Given the description of an element on the screen output the (x, y) to click on. 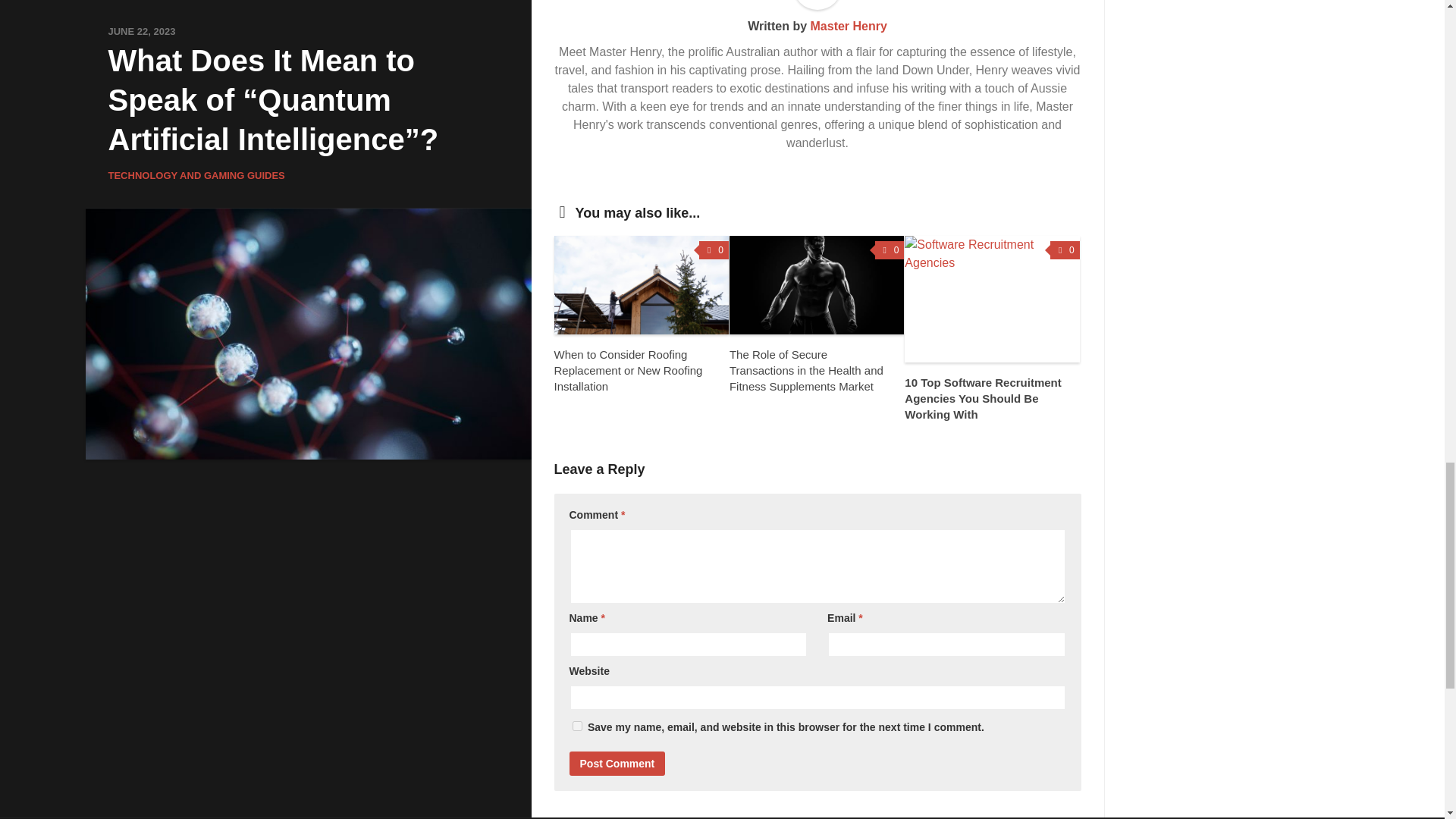
0 (889, 249)
yes (576, 726)
0 (1064, 249)
0 (713, 249)
Posts by Master Henry (847, 25)
Post Comment (617, 763)
Master Henry (847, 25)
